Given the description of an element on the screen output the (x, y) to click on. 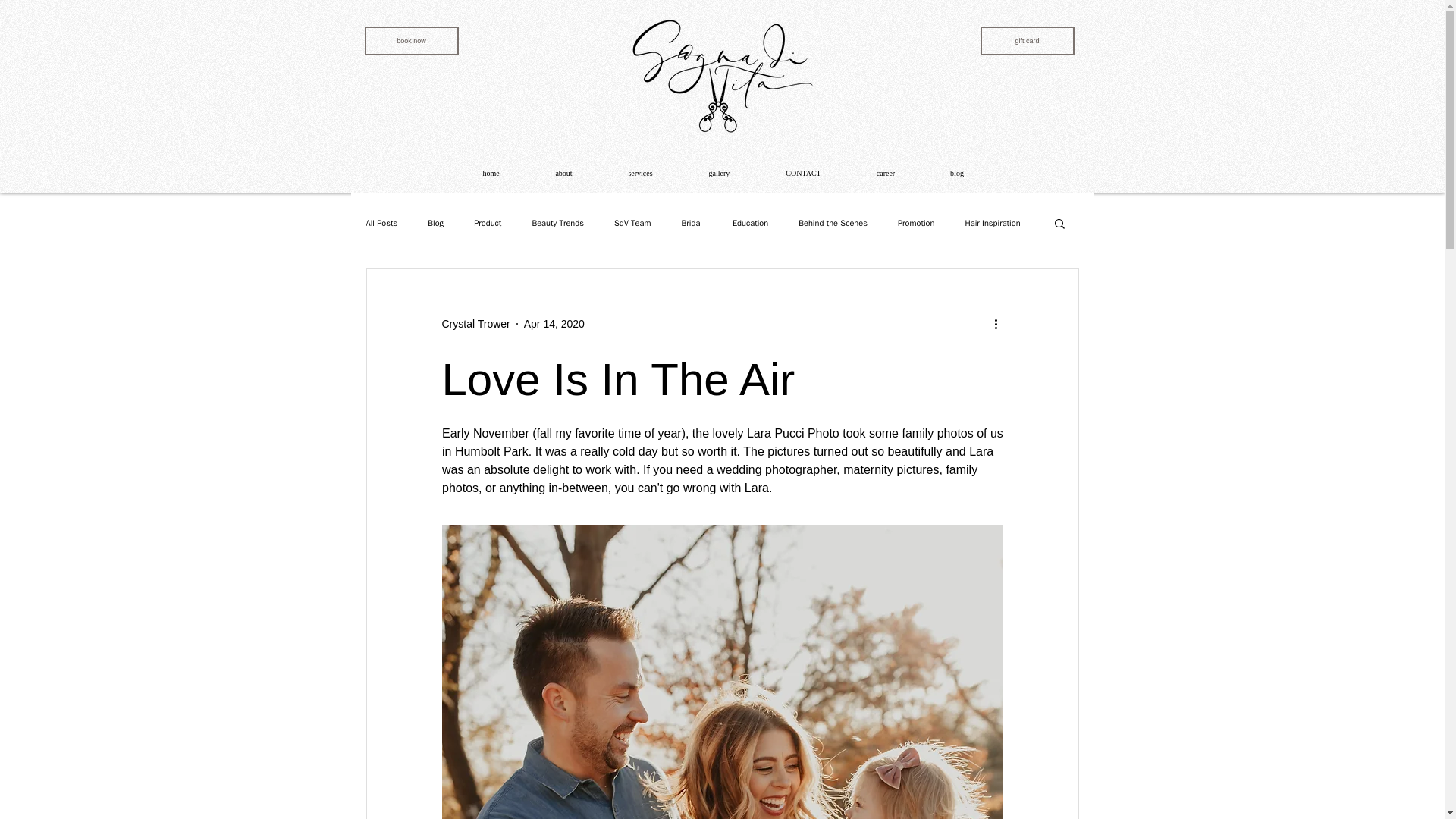
Beauty Trends (557, 222)
Product (487, 222)
Hair Inspiration (991, 222)
blog (956, 173)
about (563, 173)
career (885, 173)
Blog (436, 222)
gallery (719, 173)
services (640, 173)
Promotion (916, 222)
